Given the description of an element on the screen output the (x, y) to click on. 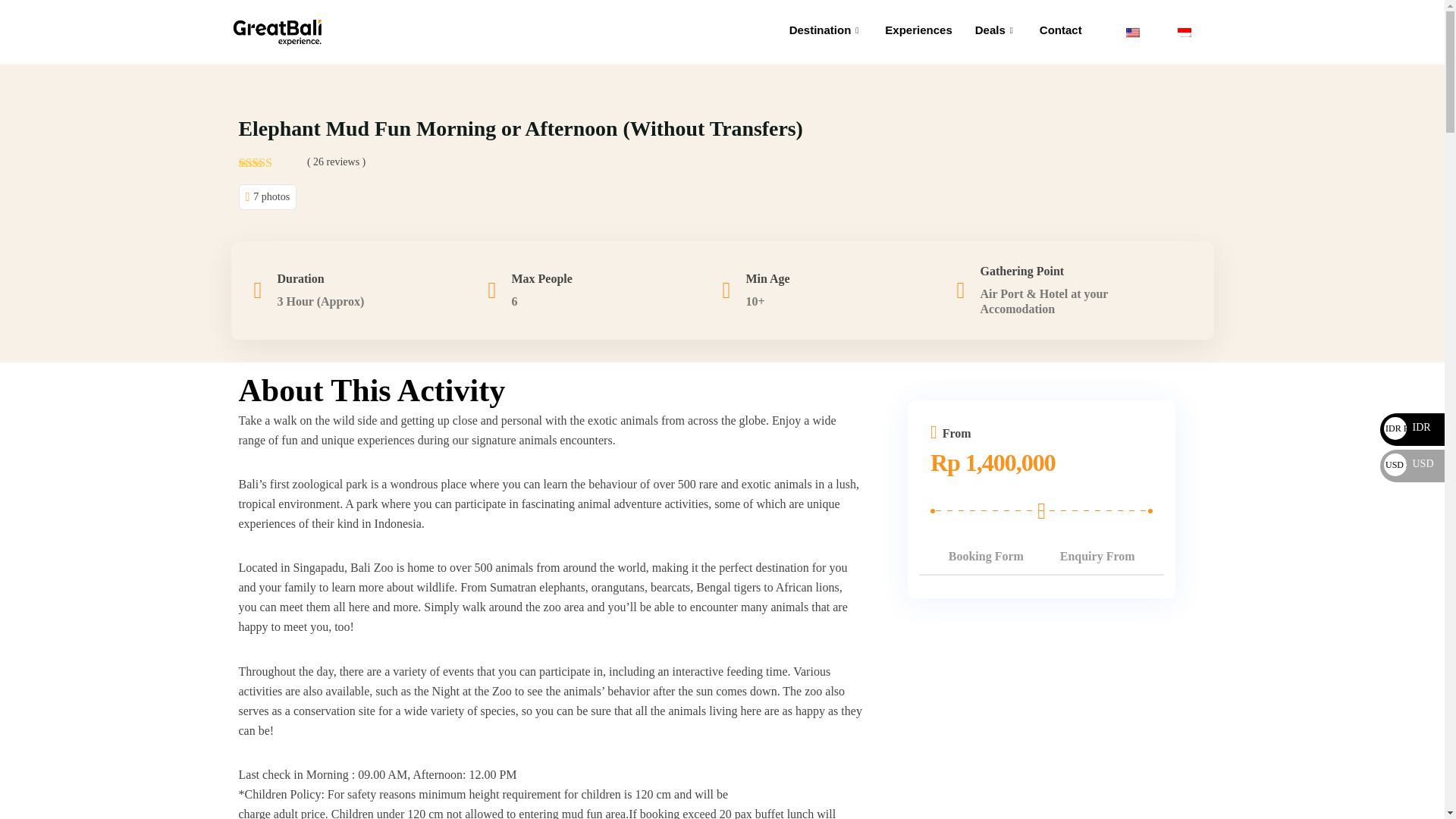
Indonesian (1184, 31)
Deals (995, 30)
Experiences (917, 30)
Contact (1060, 30)
English (1132, 31)
Destination (826, 30)
